Given the description of an element on the screen output the (x, y) to click on. 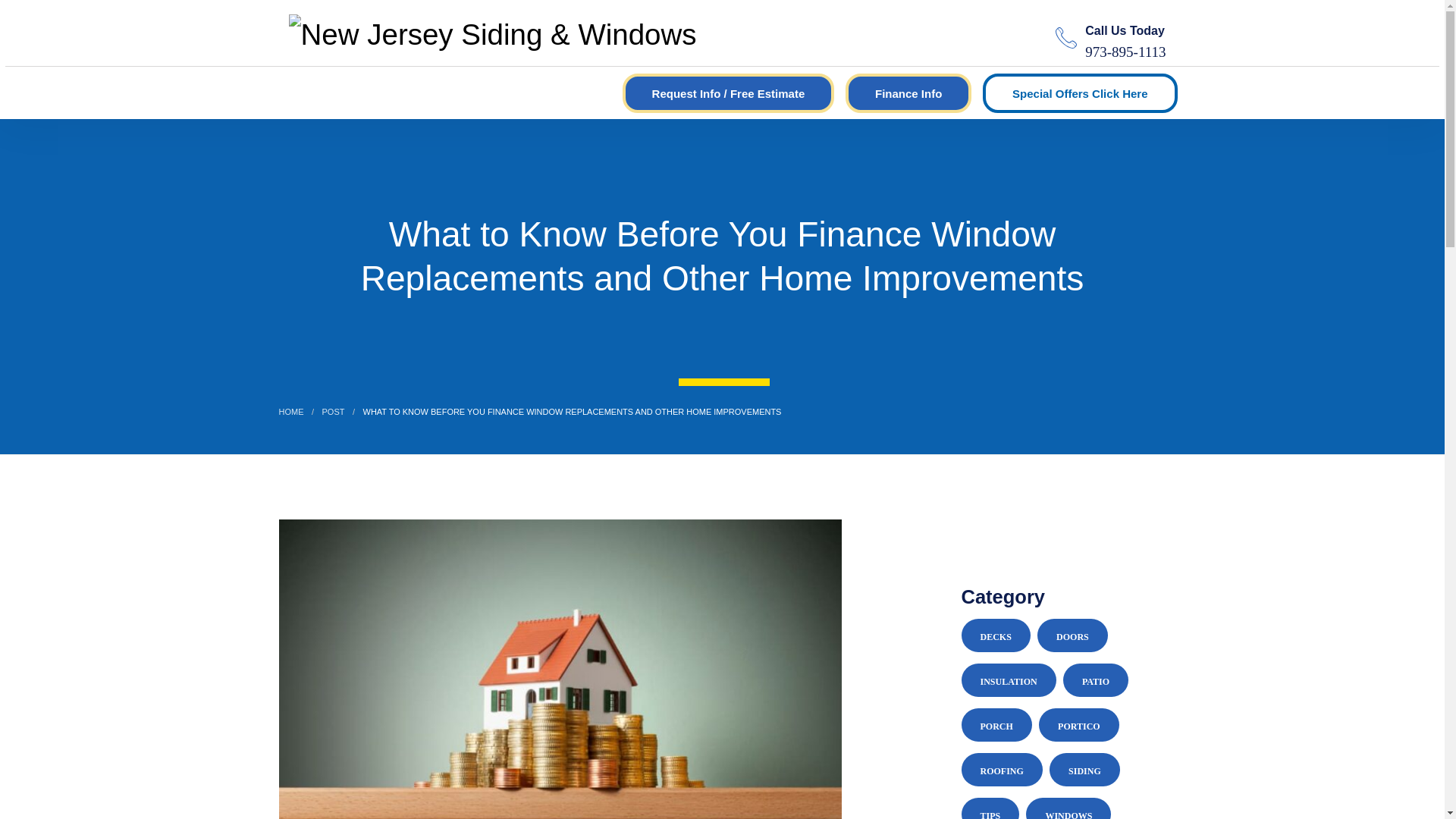
Contact Us (675, 90)
Home (306, 90)
HOME (291, 411)
Why Us (378, 90)
Special Offers Click Here (1079, 93)
POST (333, 411)
Blog (598, 90)
Finance Info (908, 93)
